Given the description of an element on the screen output the (x, y) to click on. 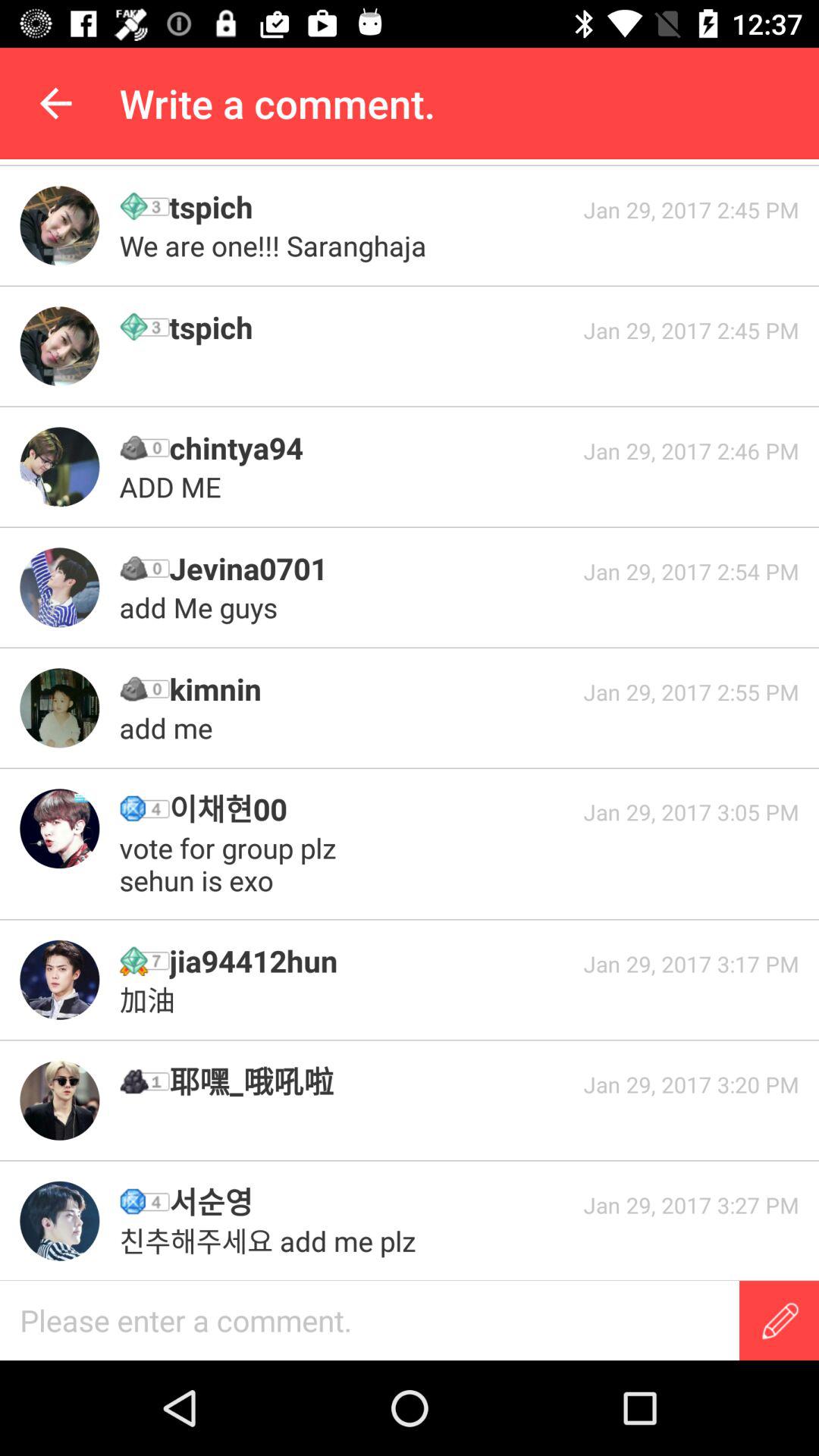
press vote for group icon (231, 864)
